Given the description of an element on the screen output the (x, y) to click on. 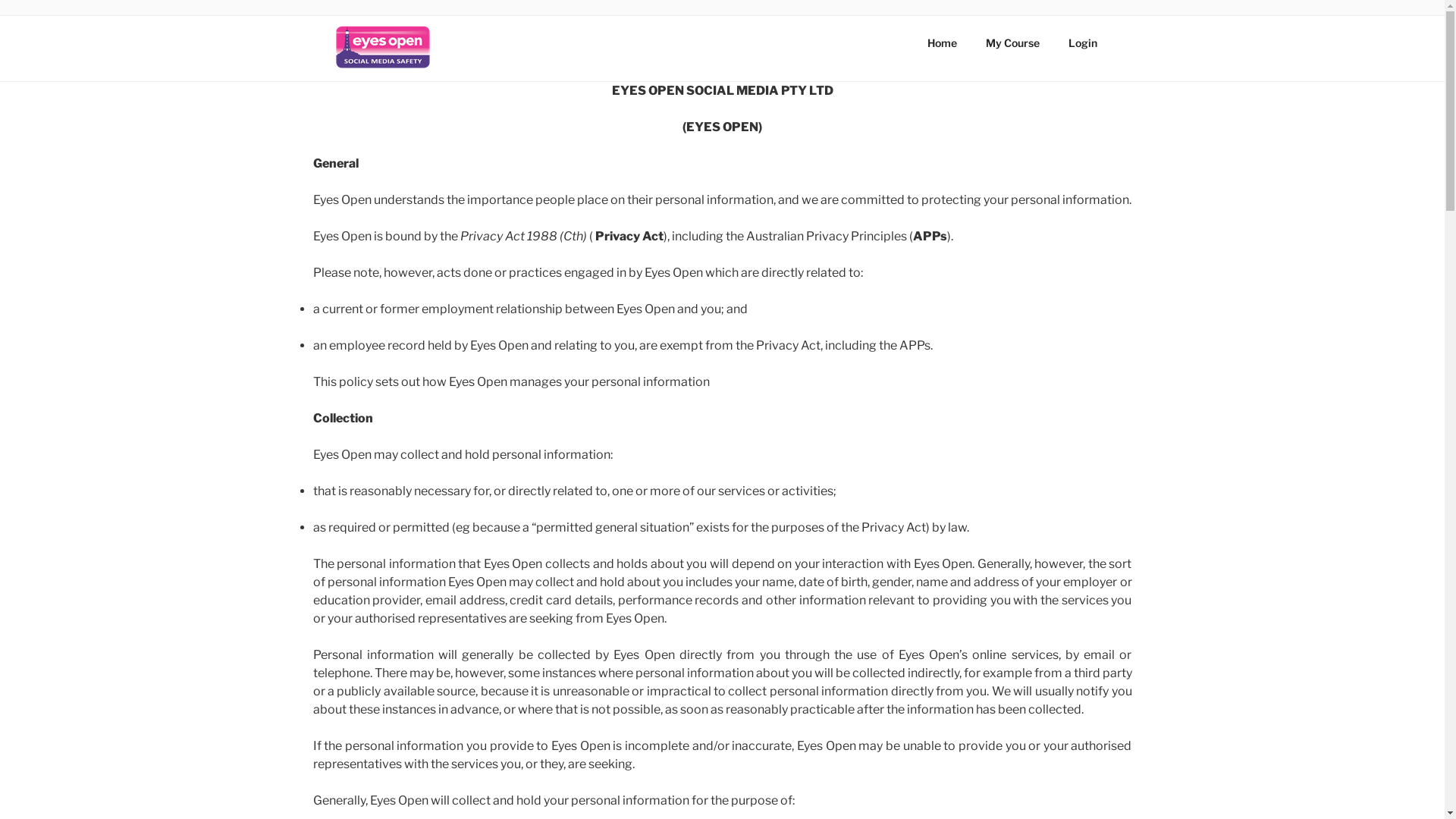
Login Element type: text (1082, 42)
Home Element type: text (942, 42)
My Course Element type: text (1012, 42)
